Given the description of an element on the screen output the (x, y) to click on. 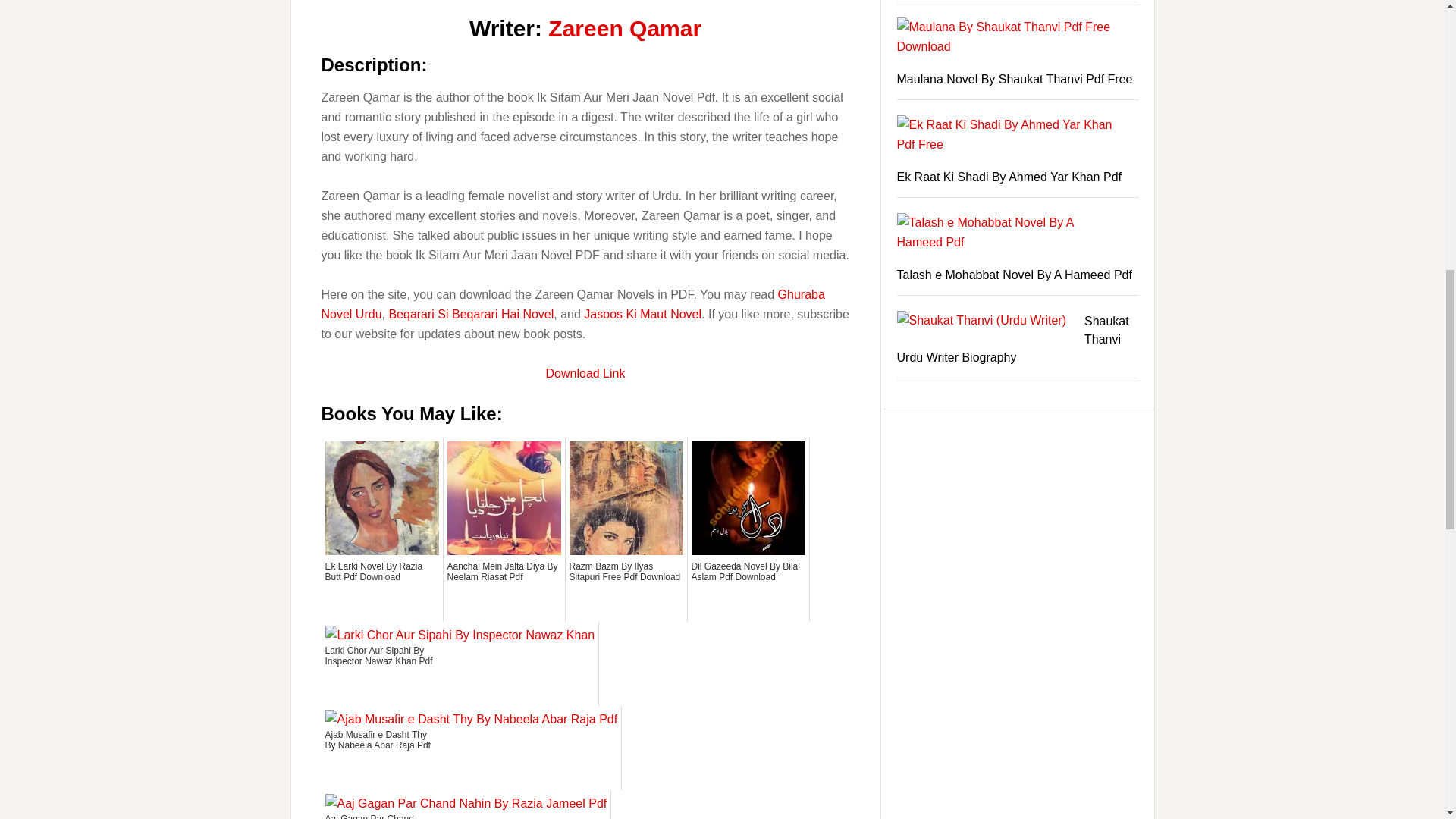
Ek Larki Novel By Razia Butt Pdf Download (381, 589)
Download Link (586, 373)
Ghuraba Novel Urdu (573, 304)
Jasoos Ki Maut Novel (642, 314)
Aanchal Mein Jalta Diya By Neelam Riasat Pdf (503, 589)
Razm Bazm By Ilyas Sitapuri Free Pdf Download (625, 589)
Zareen Qamar (624, 27)
Beqarari Si Beqarari Hai Novel (470, 314)
